Given the description of an element on the screen output the (x, y) to click on. 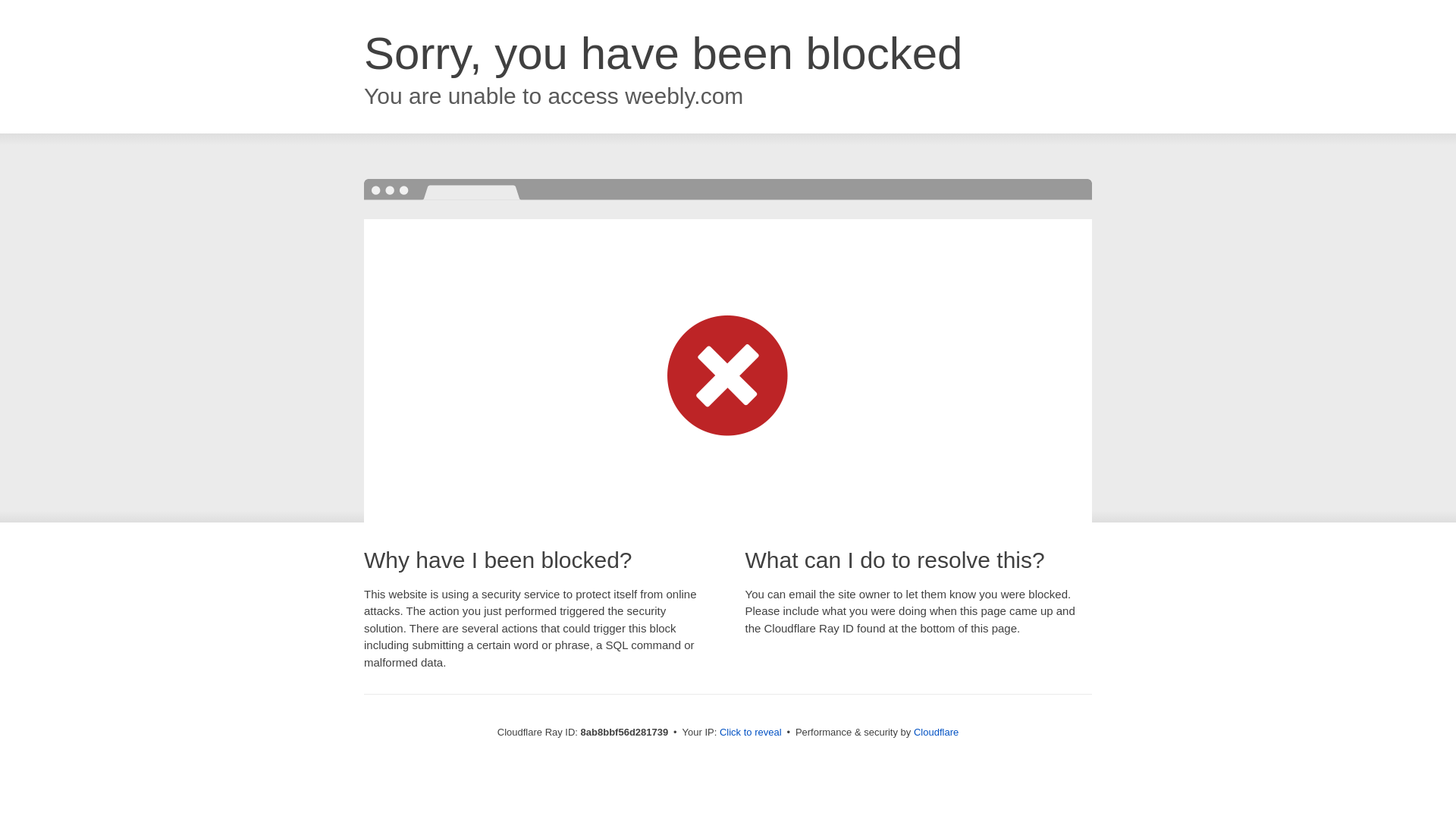
Click to reveal (750, 732)
Cloudflare (936, 731)
